Given the description of an element on the screen output the (x, y) to click on. 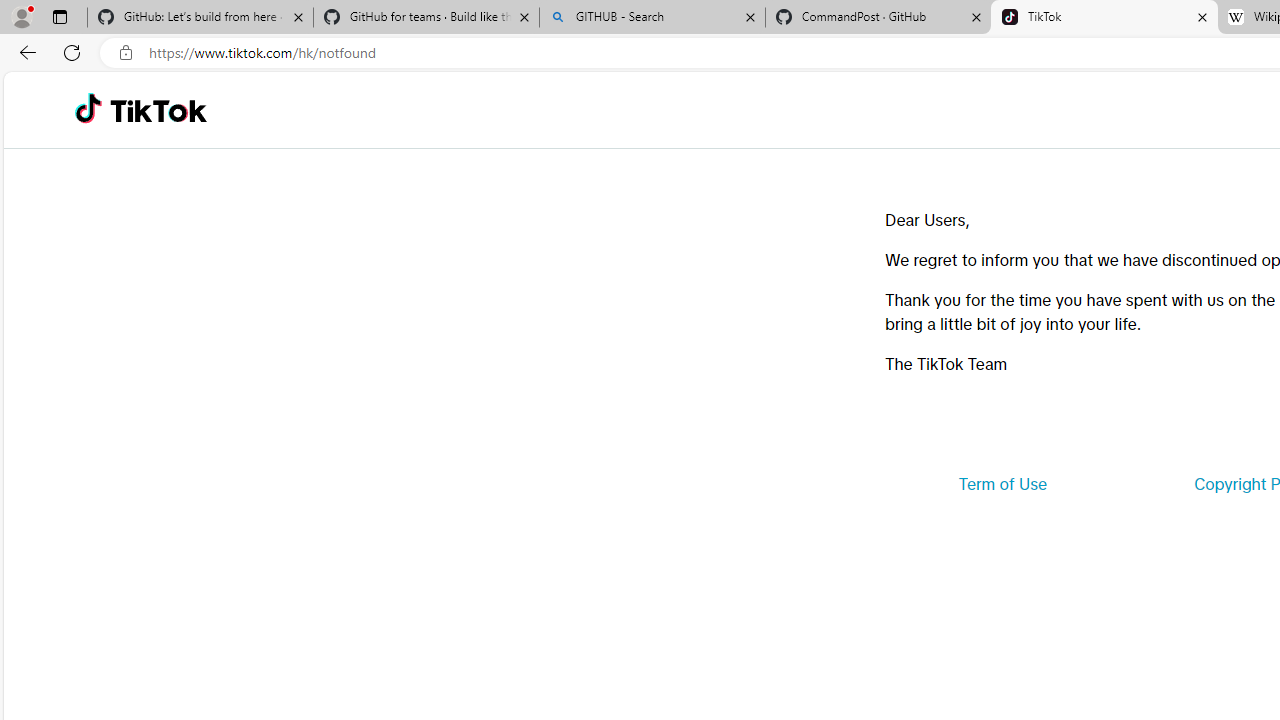
Term of Use (1002, 484)
GITHUB - Search (652, 17)
TikTok (1104, 17)
TikTok (158, 110)
